Given the description of an element on the screen output the (x, y) to click on. 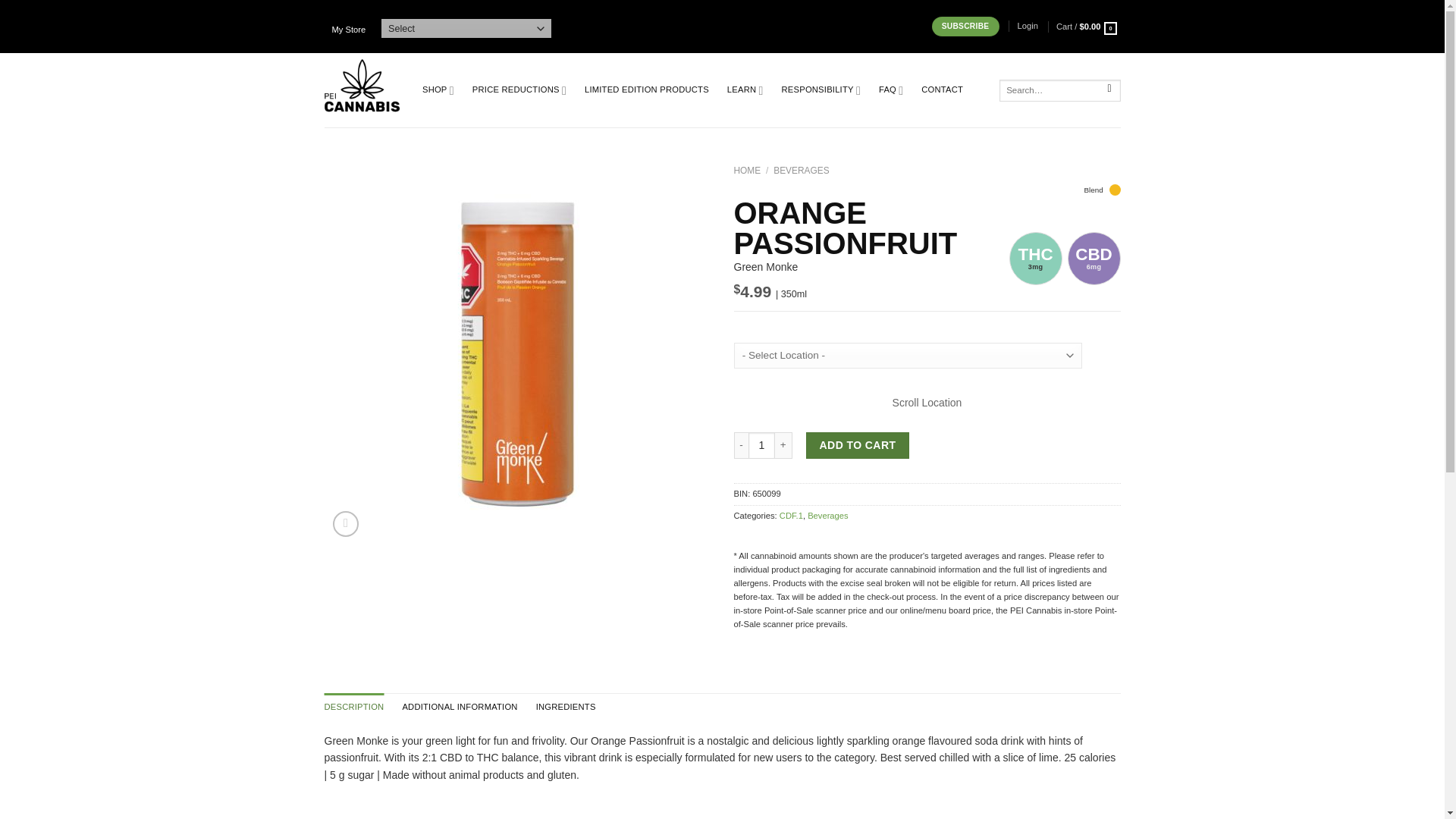
Zoom (345, 524)
SUBSCRIBE (964, 26)
Scroll Location (927, 398)
1 (761, 445)
RESPONSIBILITY (820, 90)
PEI Cannabis Management Corporation (361, 90)
LEARN (744, 90)
Login (1027, 26)
PRICE REDUCTIONS (518, 90)
SHOP (438, 90)
